Given the description of an element on the screen output the (x, y) to click on. 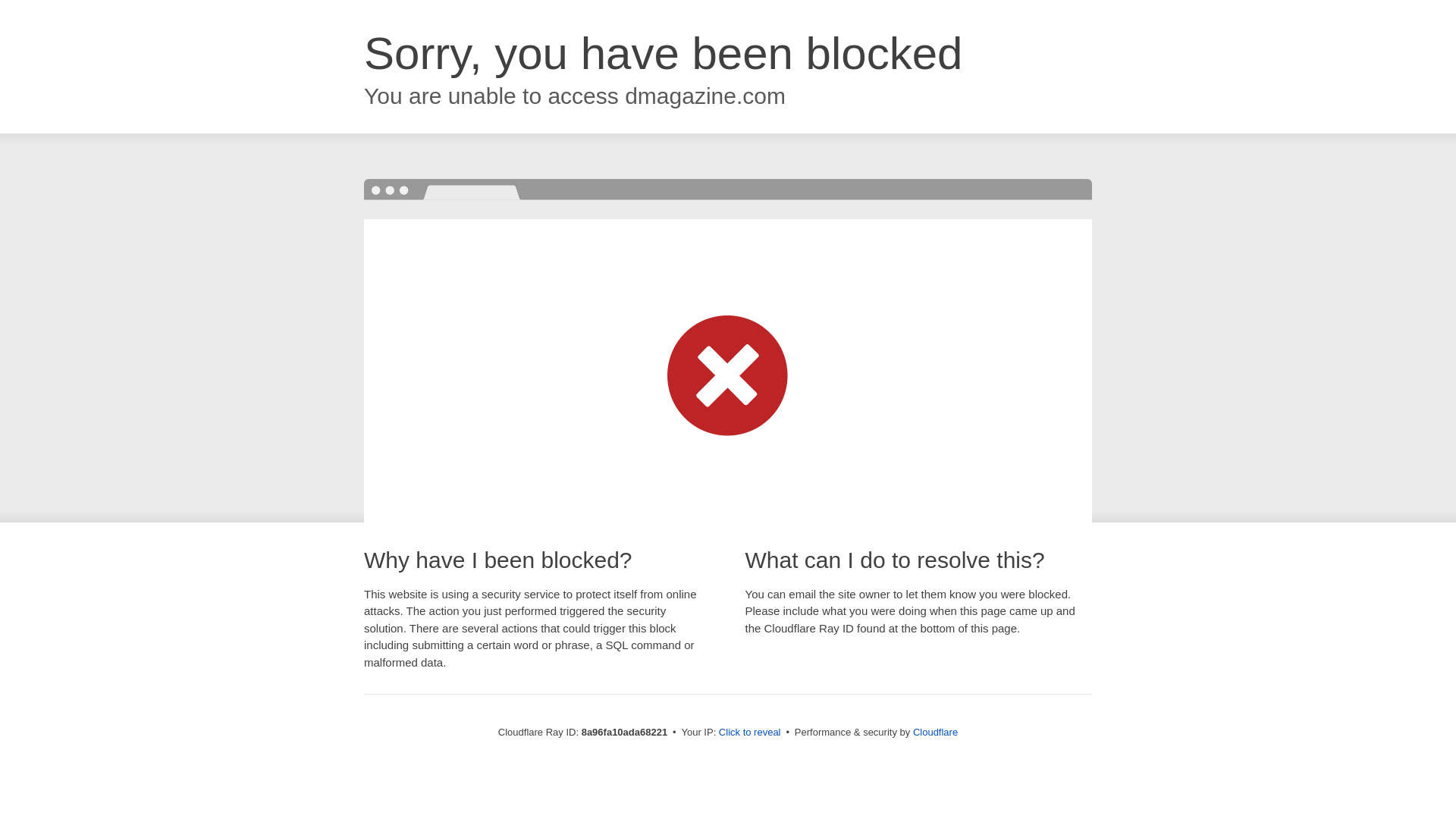
Cloudflare (935, 731)
Click to reveal (749, 732)
